Given the description of an element on the screen output the (x, y) to click on. 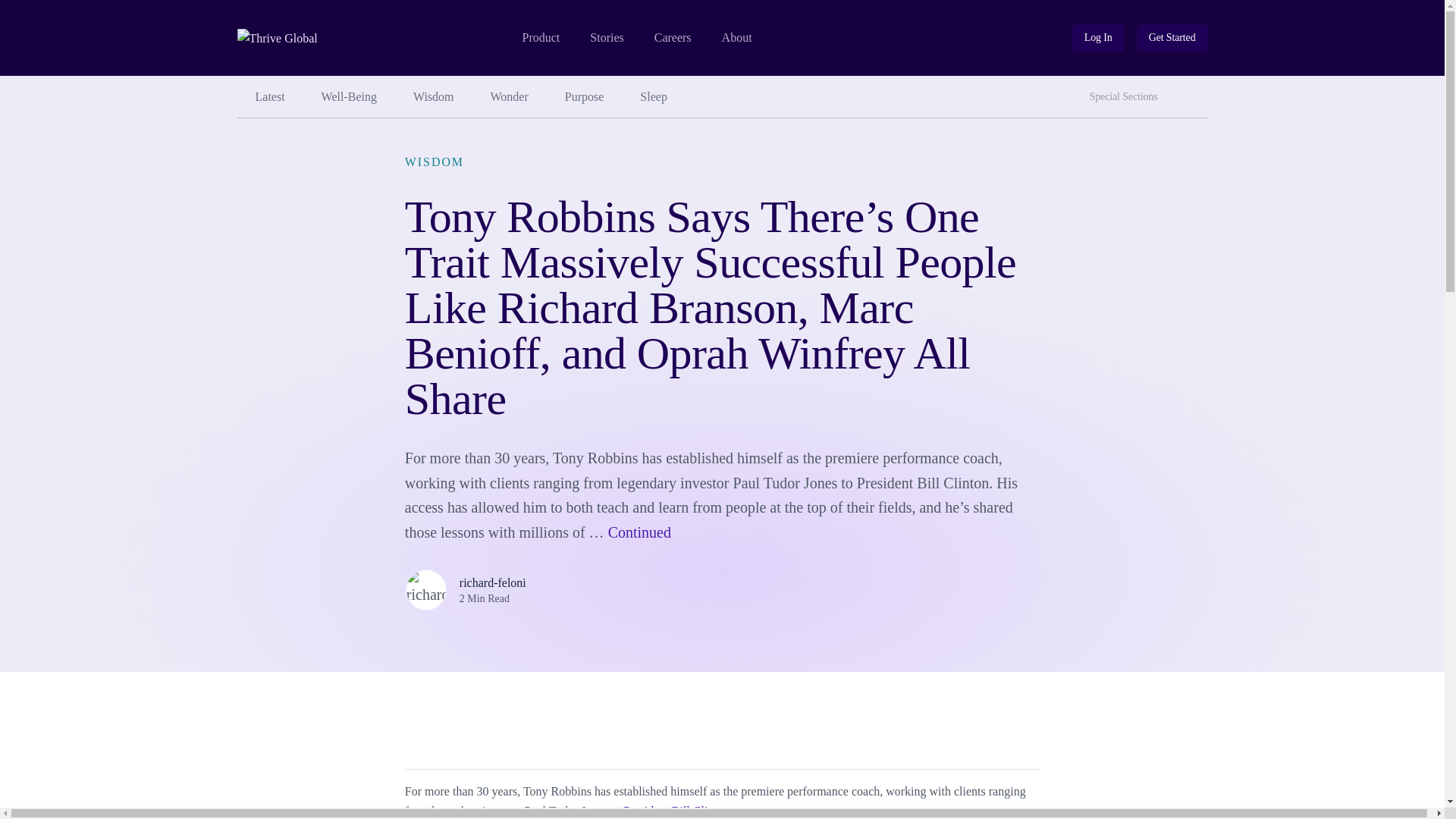
Wisdom (432, 96)
Wonder (1193, 91)
btn-info (509, 96)
Product (1097, 37)
Get Started (540, 37)
Log In (1172, 37)
Special Sections (1097, 37)
About (1126, 97)
Stories (737, 37)
